Given the description of an element on the screen output the (x, y) to click on. 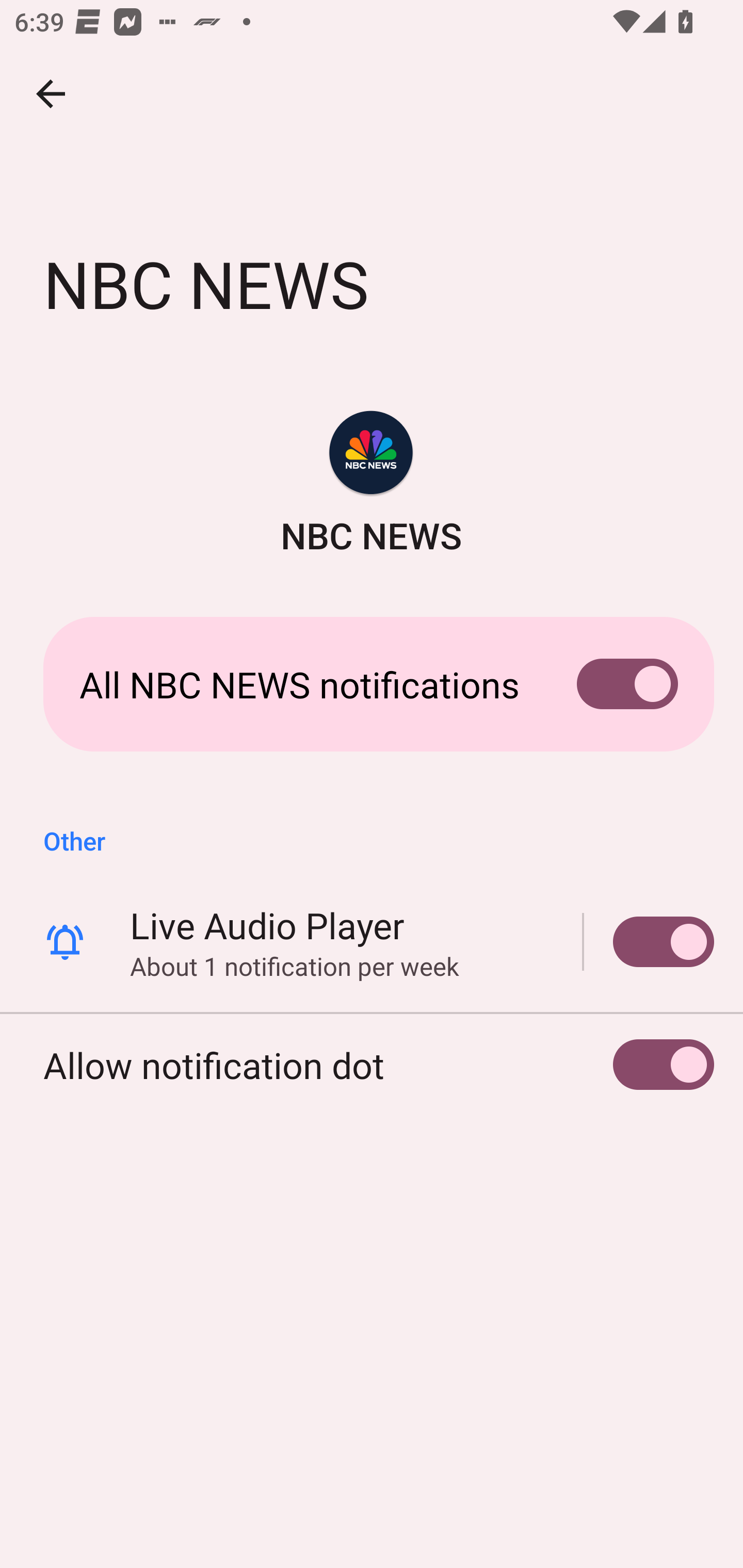
Navigate up (50, 93)
NBC NEWS (371, 484)
All NBC NEWS notifications (371, 684)
Live Audio Player (648, 941)
Allow notification dot (371, 1064)
